Given the description of an element on the screen output the (x, y) to click on. 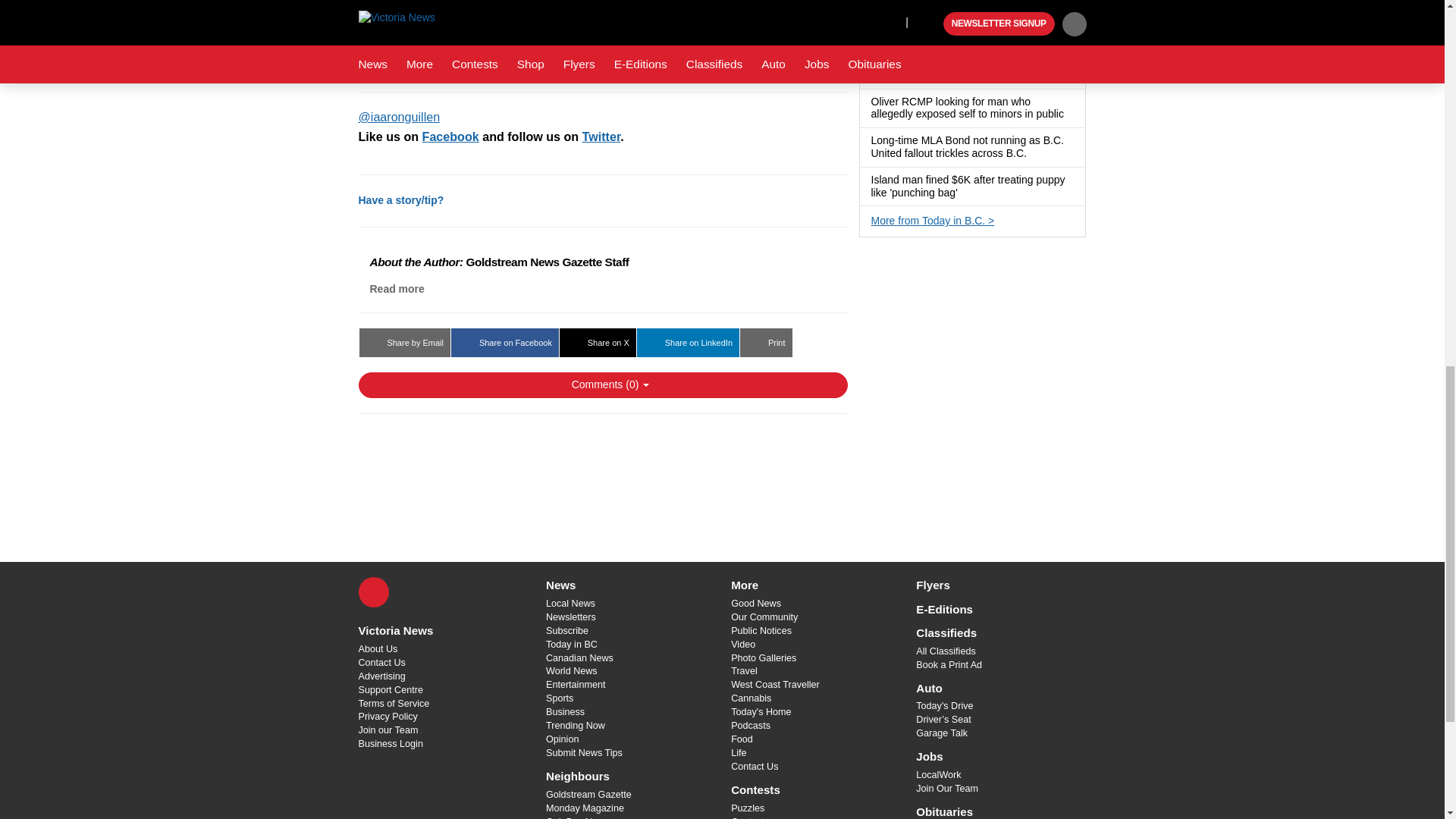
X (373, 592)
Show Comments (602, 385)
Has a gallery (969, 36)
